Given the description of an element on the screen output the (x, y) to click on. 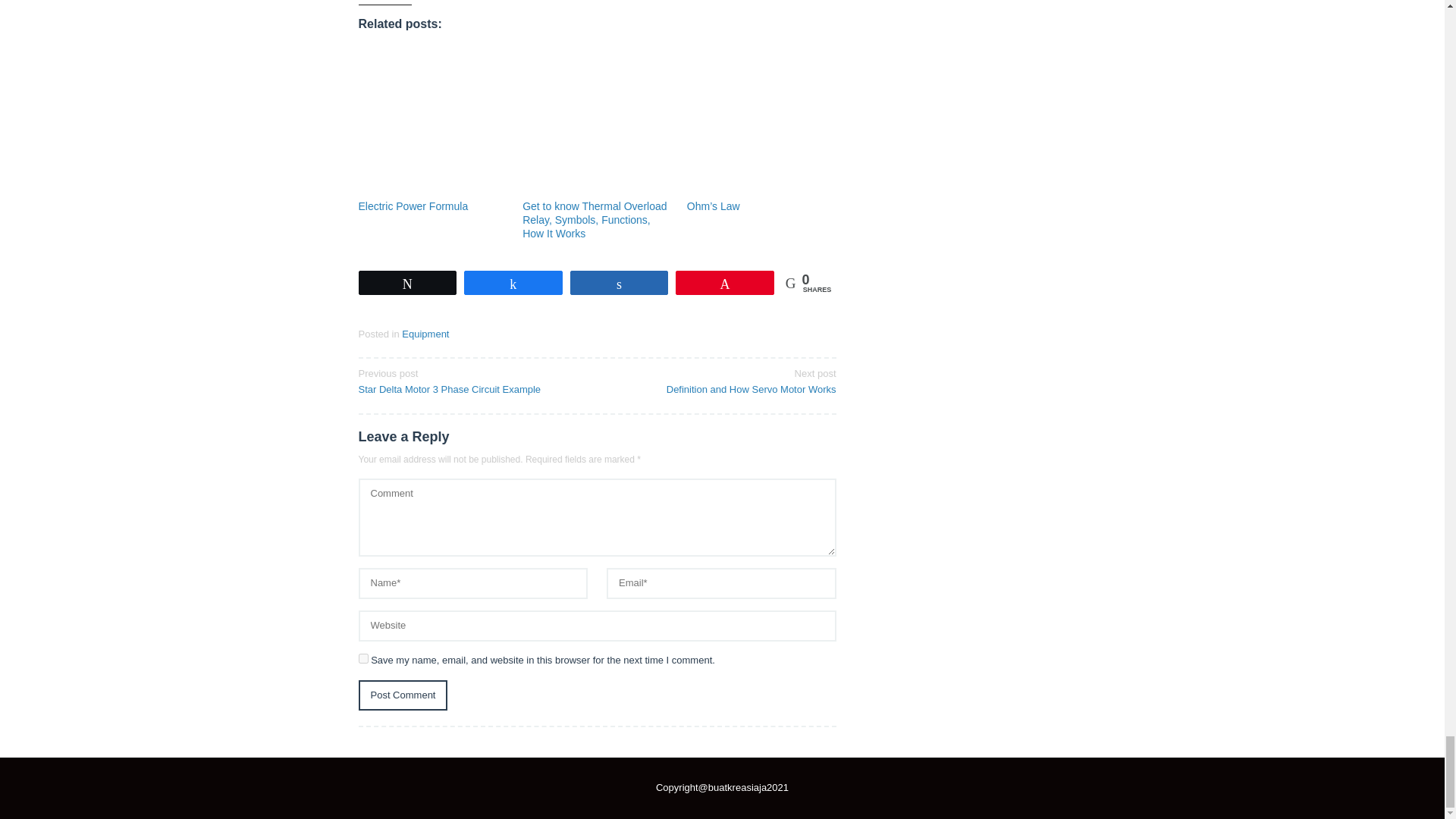
Electric Power Formula (412, 205)
Post Comment (402, 695)
yes (363, 658)
